Given the description of an element on the screen output the (x, y) to click on. 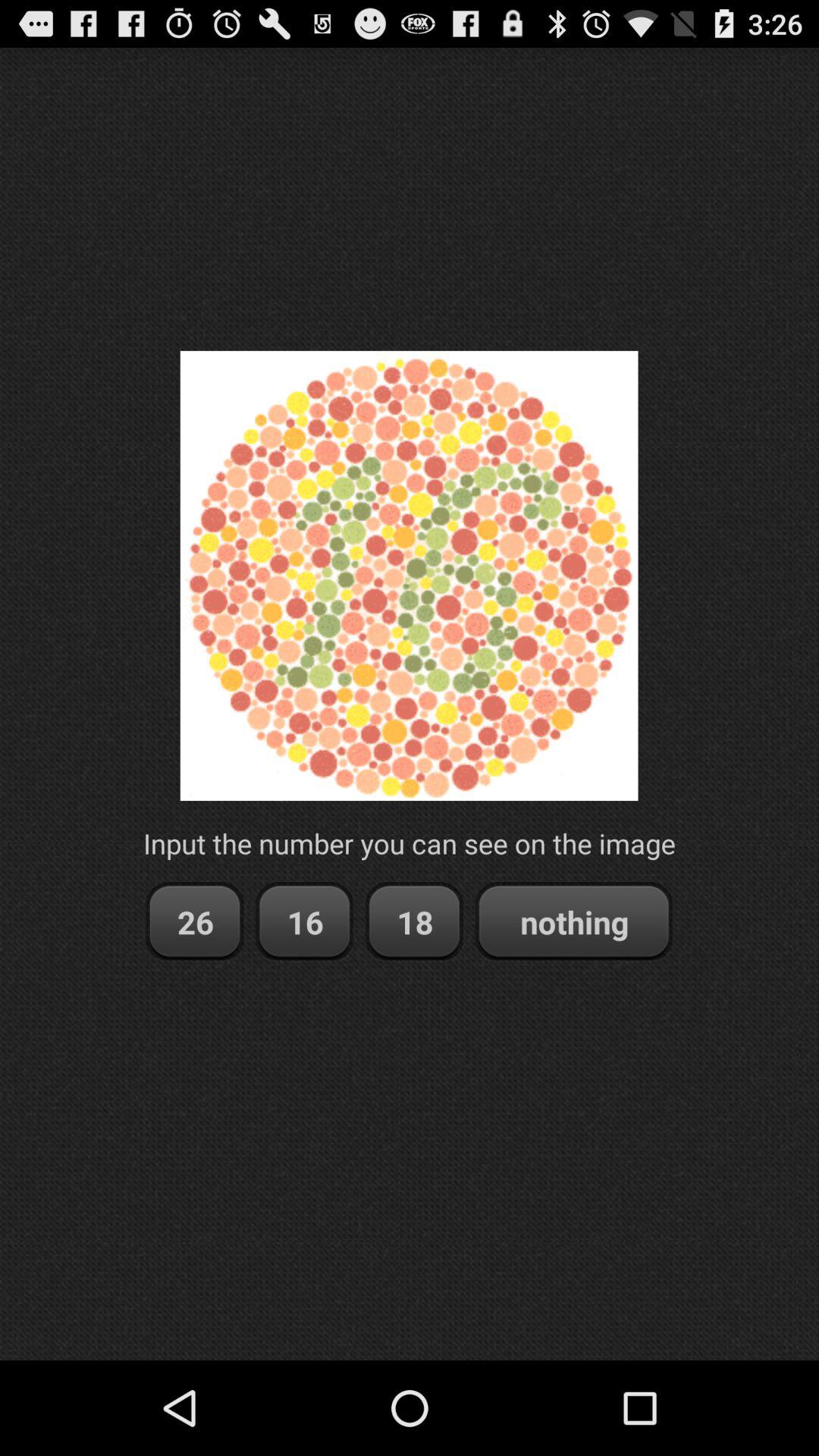
select the nothing button (573, 921)
